Given the description of an element on the screen output the (x, y) to click on. 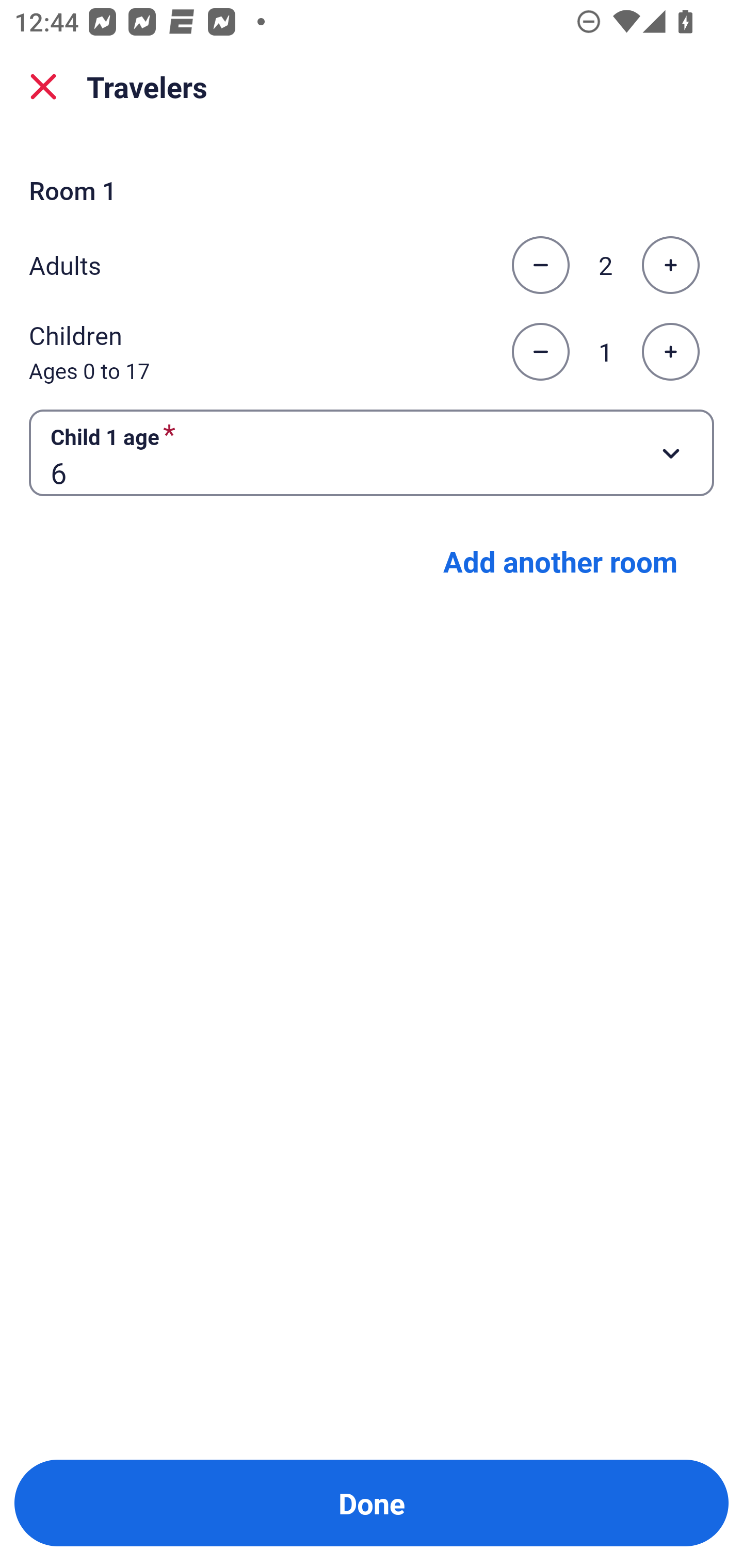
close (43, 86)
Decrease the number of adults (540, 264)
Increase the number of adults (670, 264)
Decrease the number of children (540, 351)
Increase the number of children (670, 351)
Child 1 age required Button 6 (371, 452)
Add another room (560, 561)
Done (371, 1502)
